Given the description of an element on the screen output the (x, y) to click on. 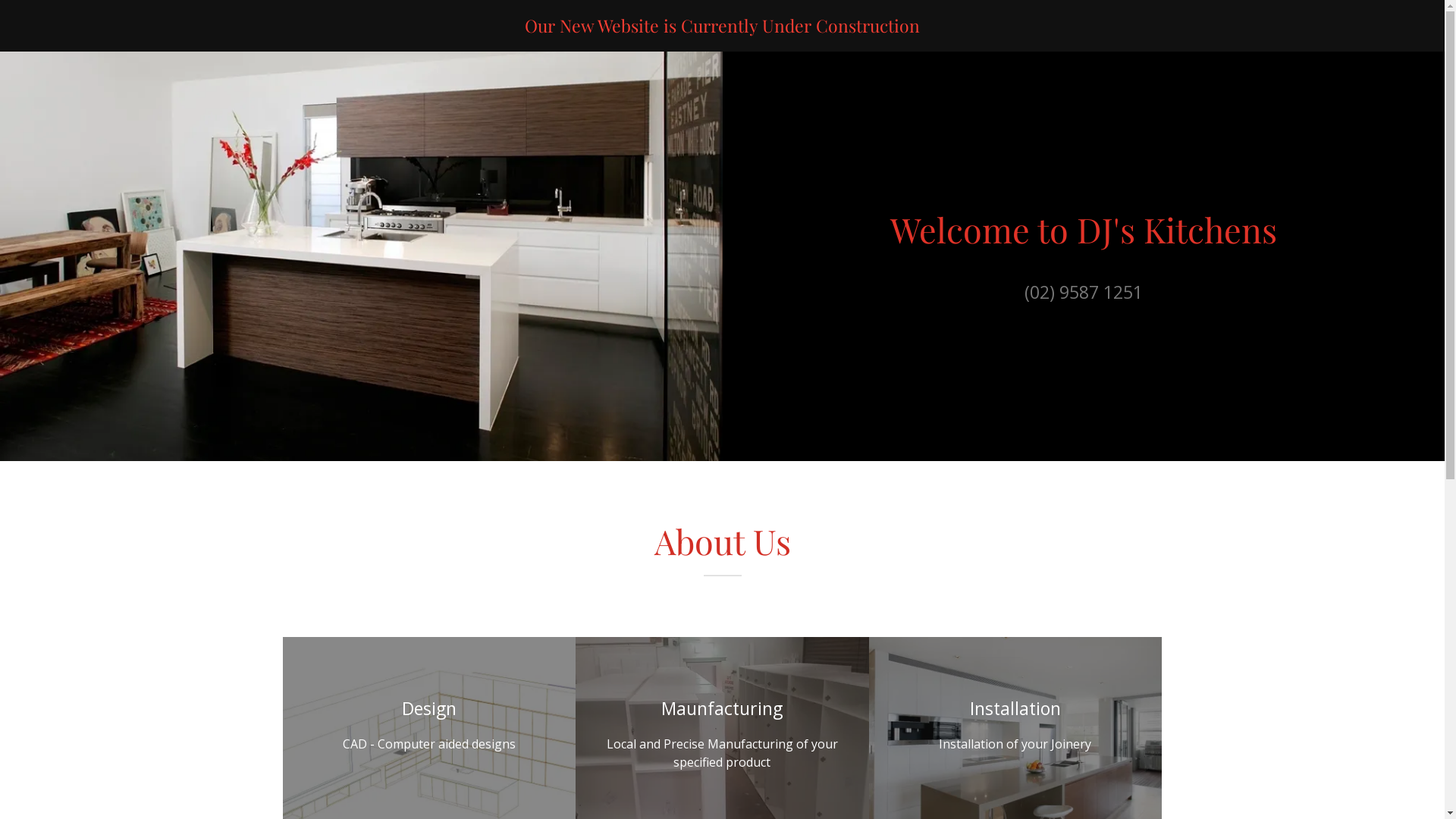
(02) 9587 1251 Element type: text (1083, 284)
